Given the description of an element on the screen output the (x, y) to click on. 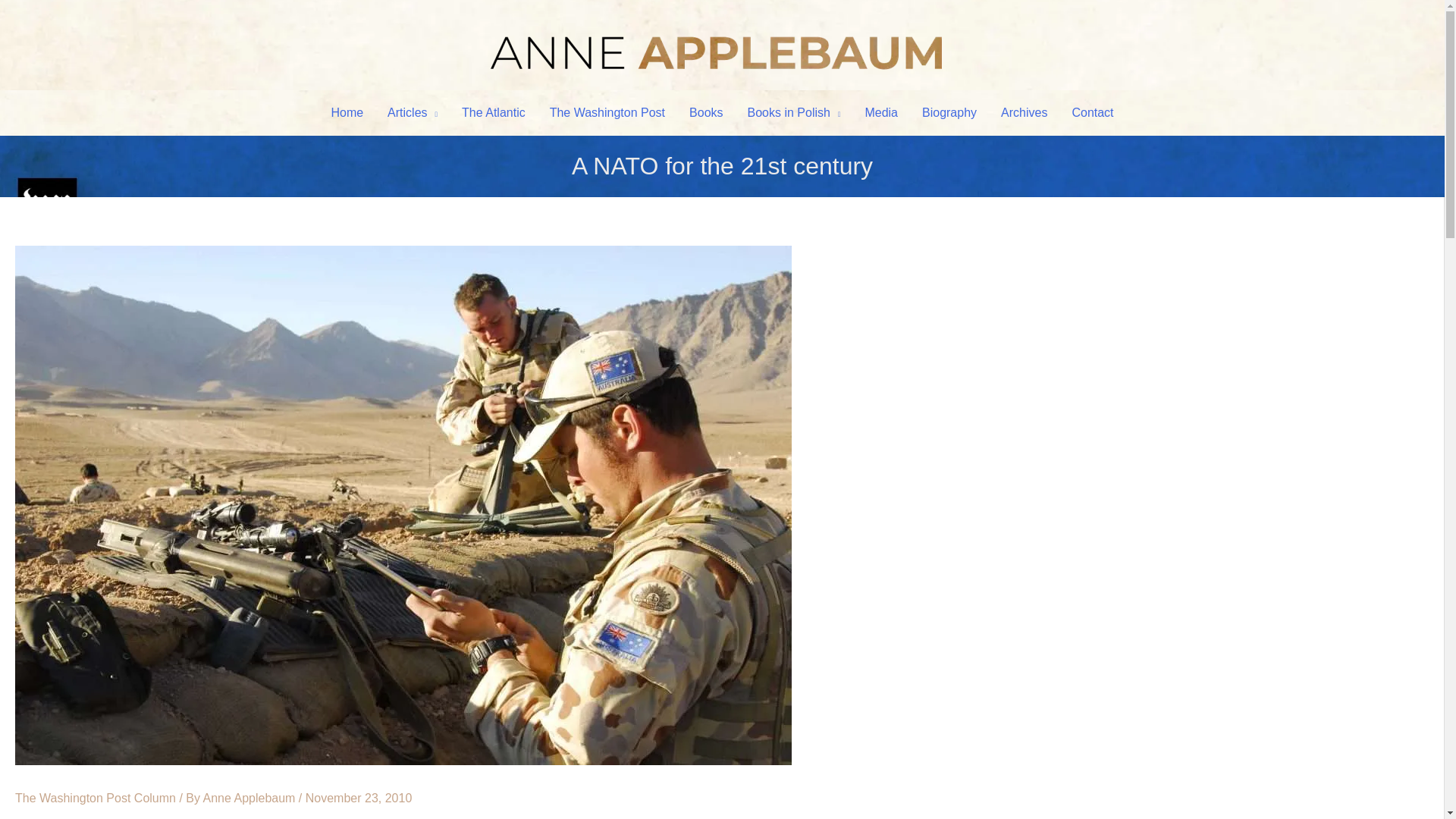
Biography (949, 112)
Books in Polish (794, 112)
Contact (1092, 112)
Media (880, 112)
The Washington Post (607, 112)
Books (706, 112)
View all posts by Anne Applebaum (250, 797)
The Atlantic (493, 112)
Articles (412, 112)
Home (346, 112)
Archives (1023, 112)
